Given the description of an element on the screen output the (x, y) to click on. 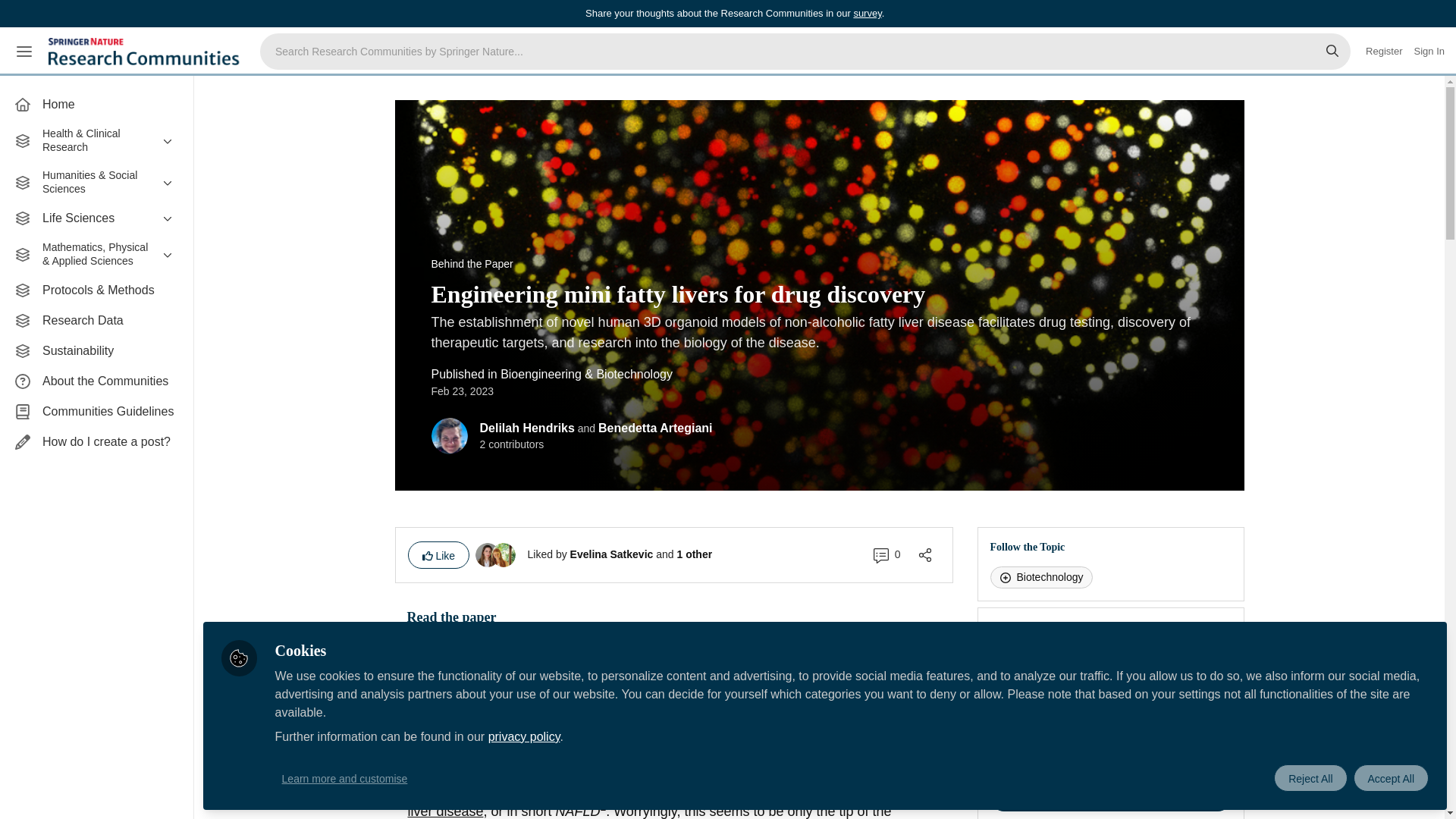
survey (866, 12)
Research Communities by Springer Nature (146, 51)
Home (96, 103)
Menu (24, 51)
Life Sciences (96, 217)
Home (96, 103)
Search (1332, 51)
Life Sciences (96, 217)
